Given the description of an element on the screen output the (x, y) to click on. 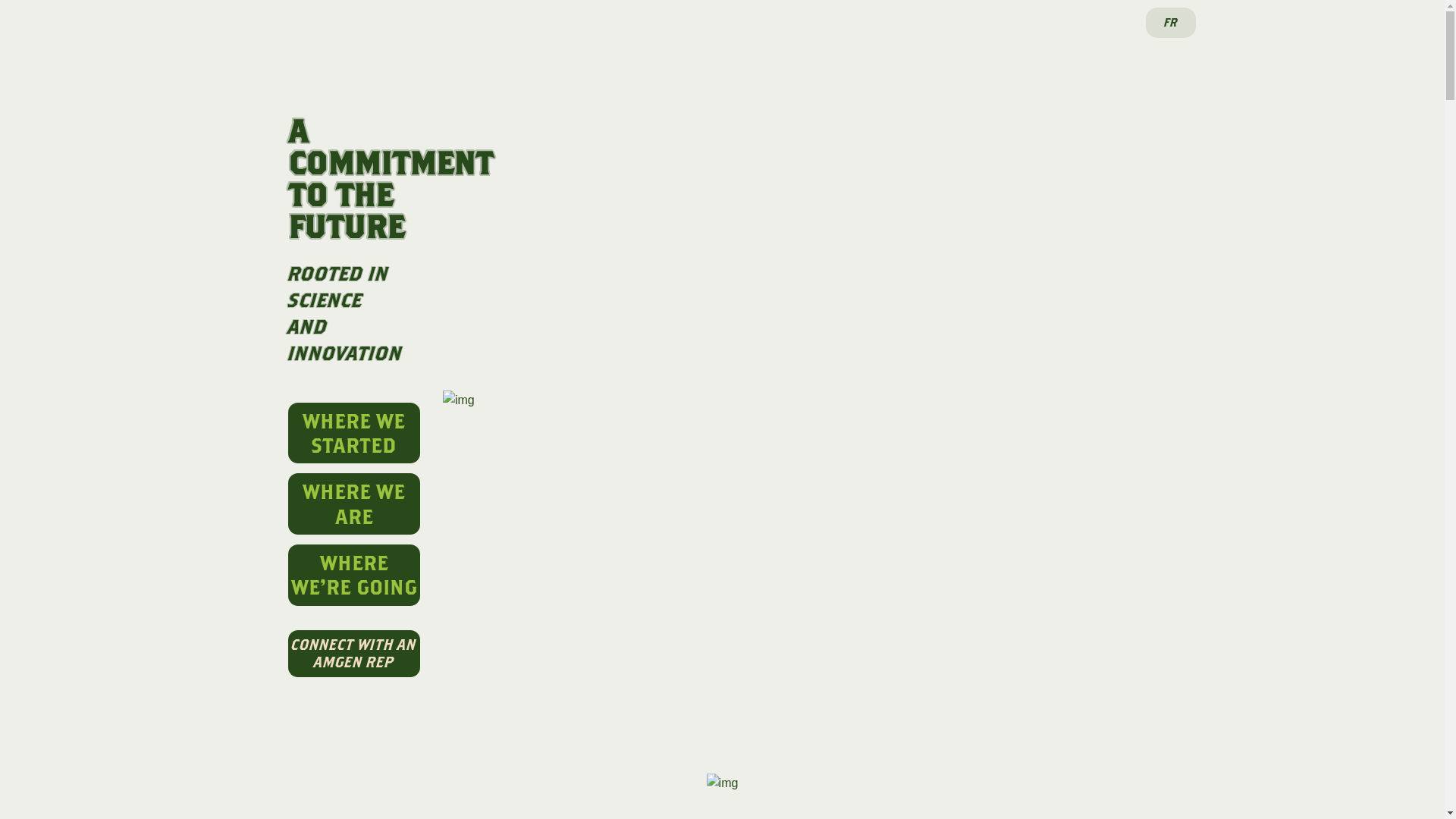
WHERE WE ARE Element type: text (354, 503)
FR Element type: text (1170, 22)
WHERE WE'RE GOING Element type: text (354, 574)
CONNECT WITH AN AMGEN REP Element type: text (354, 653)
WHERE WE STARTED Element type: text (354, 433)
